Given the description of an element on the screen output the (x, y) to click on. 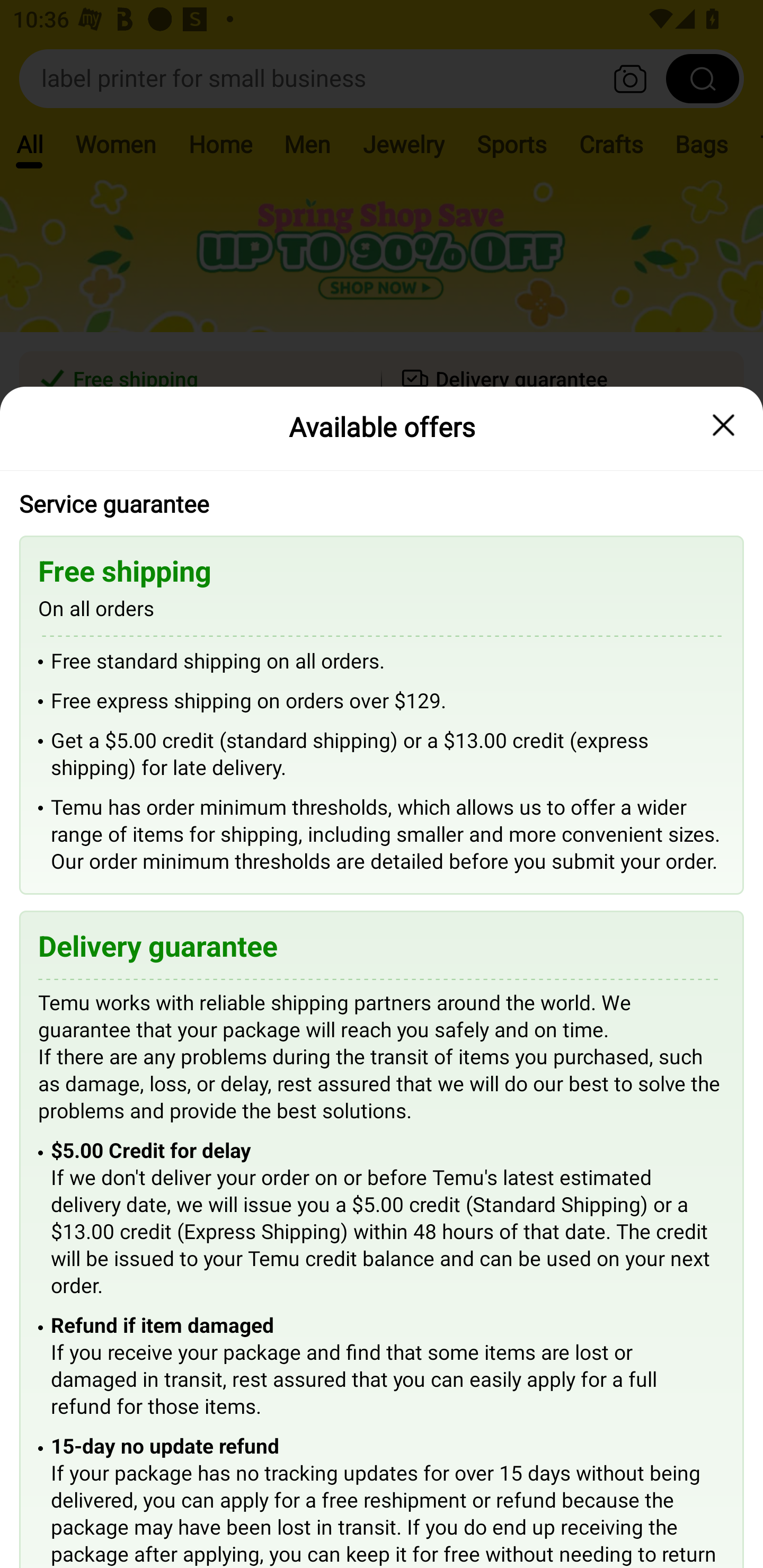
Lightning deals (379, 524)
